Given the description of an element on the screen output the (x, y) to click on. 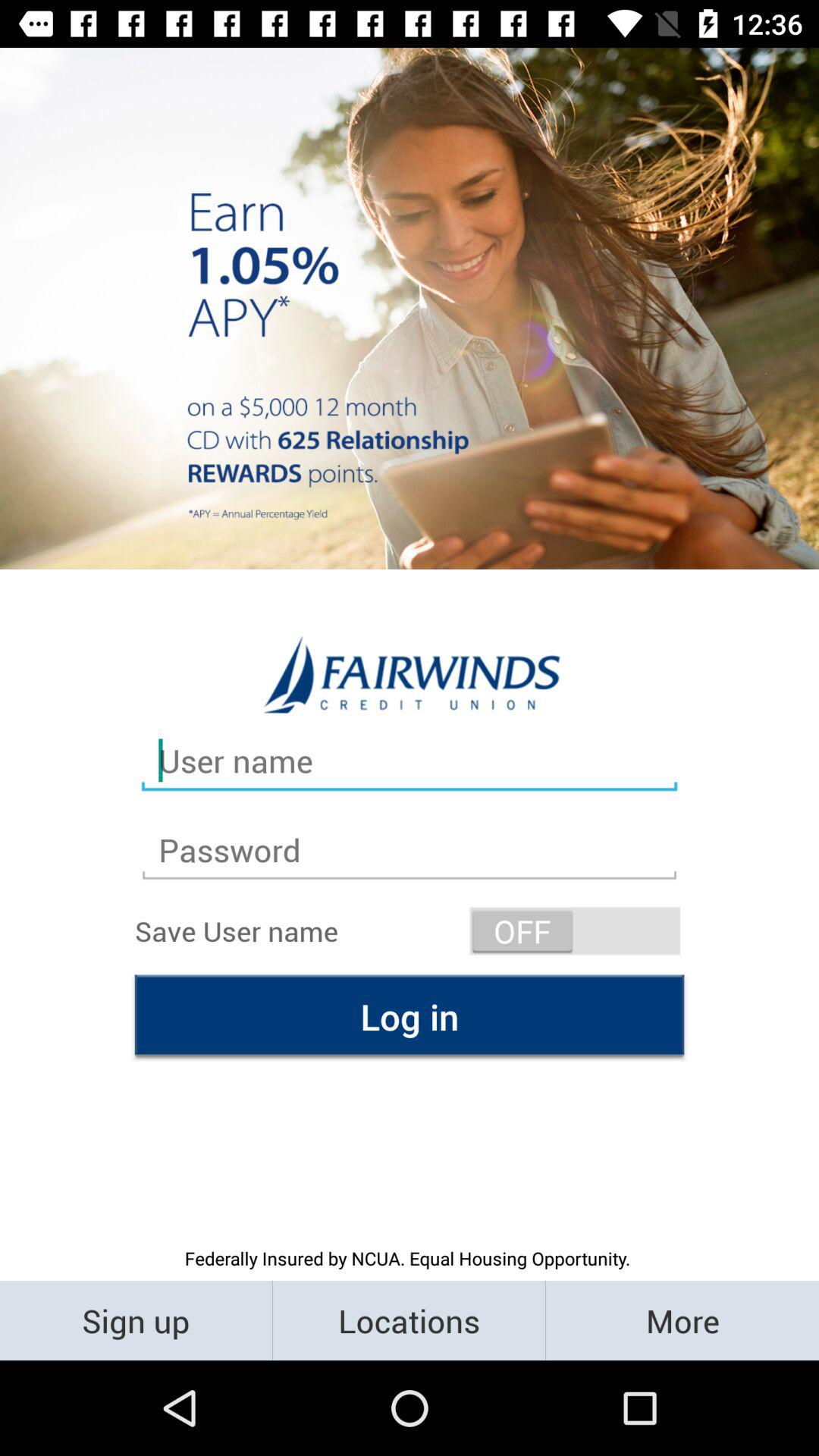
open item above the log in item (574, 930)
